Given the description of an element on the screen output the (x, y) to click on. 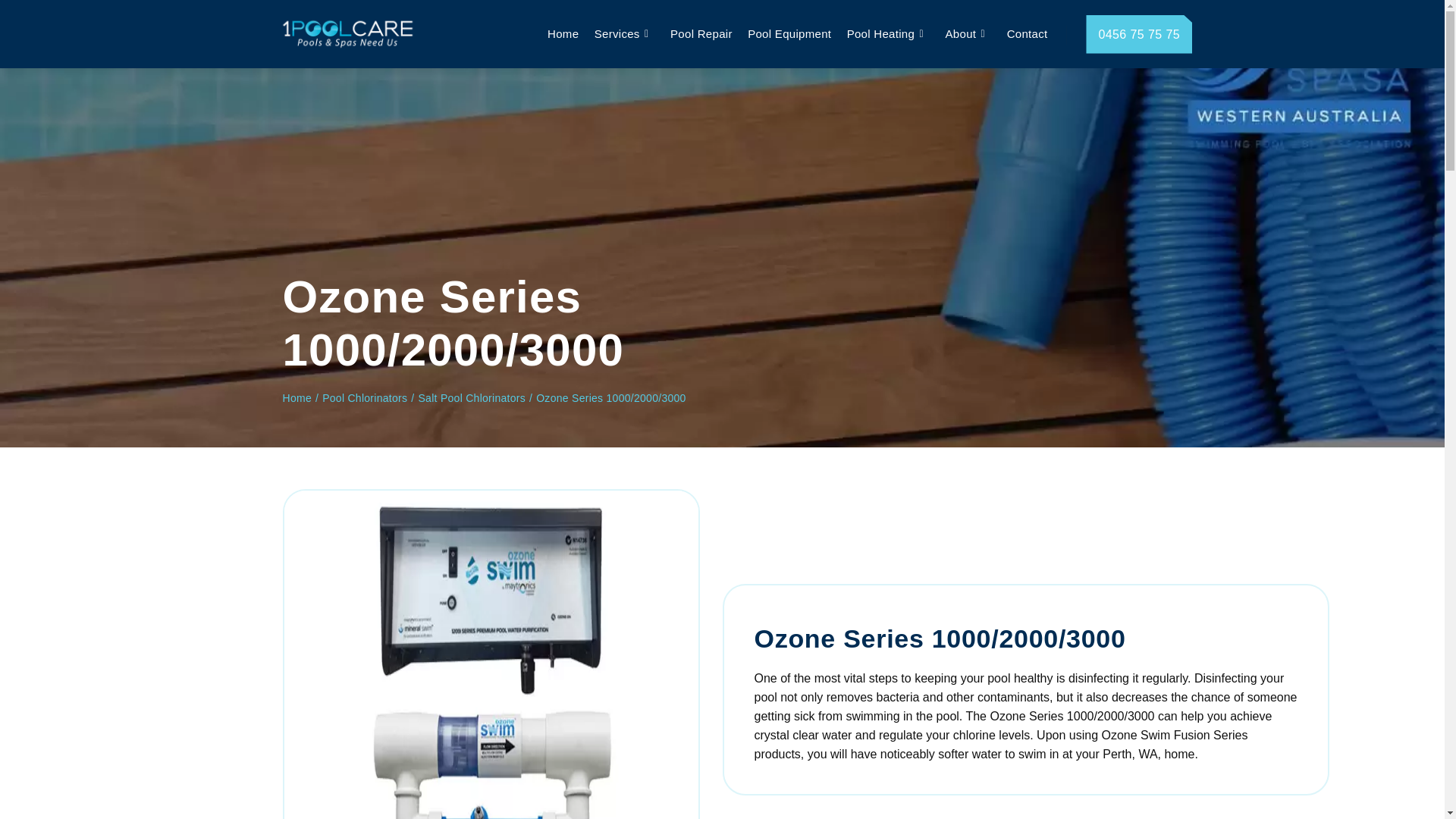
Salt Pool Chlorinators (471, 398)
Contact (1026, 33)
Home (563, 33)
Pool Repair (700, 33)
Home (296, 398)
About (958, 33)
Pool Heating (879, 33)
Pool Chlorinators (364, 398)
Pool Equipment (788, 33)
0456 75 75 75 (1139, 34)
Services (614, 33)
1poolcare (346, 33)
